Given the description of an element on the screen output the (x, y) to click on. 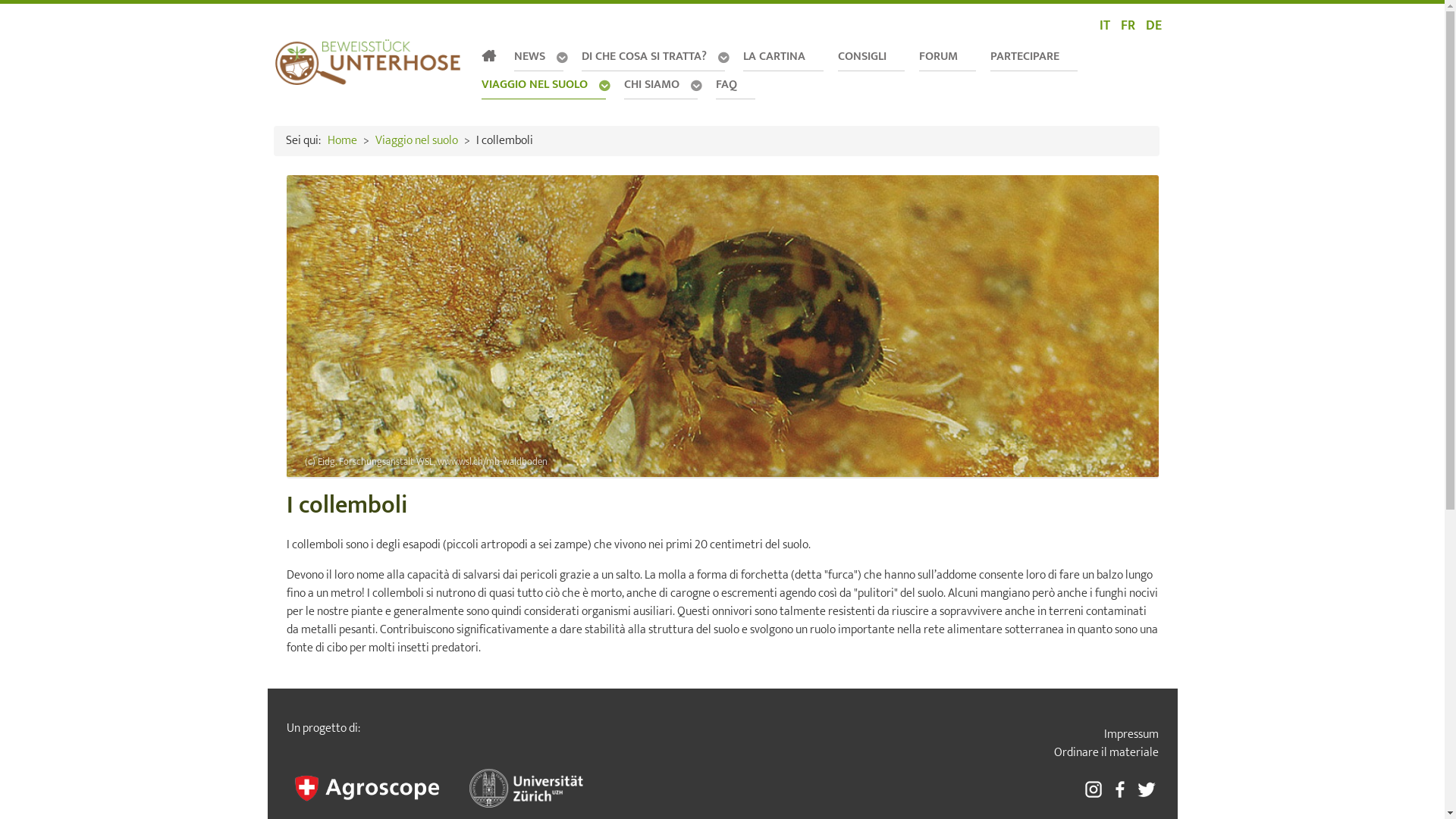
DI CHE COSA SI TRATTA? Element type: text (654, 57)
IT Element type: text (1106, 25)
Click to preview image Element type: hover (722, 325)
FAQ Element type: text (735, 84)
Ordinare il materiale Element type: text (1008, 752)
CHI SIAMO Element type: text (661, 85)
CONSIGLI Element type: text (870, 56)
FORUM Element type: text (947, 56)
DE Element type: text (1153, 25)
PARTECIPARE Element type: text (1033, 56)
LA CARTINA Element type: text (783, 56)
NEWS Element type: text (540, 57)
VIAGGIO NEL SUOLO Element type: text (544, 85)
Impressum Element type: text (1008, 734)
FR Element type: text (1129, 25)
Home Element type: text (342, 140)
Viaggio nel suolo Element type: text (415, 140)
